Given the description of an element on the screen output the (x, y) to click on. 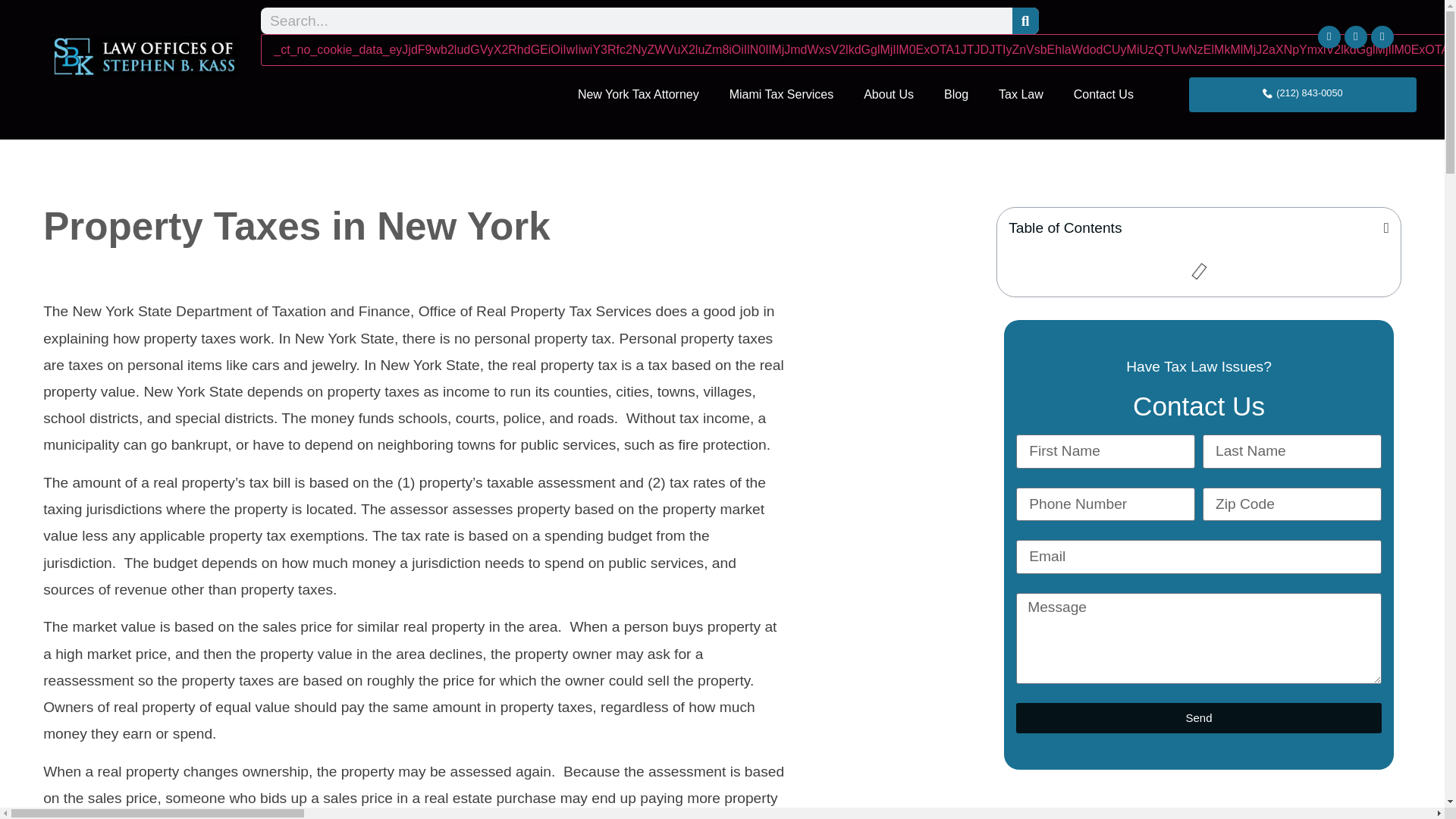
About Us (888, 94)
New York Tax Attorney (638, 94)
Tax Law (1021, 94)
Blog (956, 94)
Contact Us (1103, 94)
Miami Tax Services (781, 94)
